Given the description of an element on the screen output the (x, y) to click on. 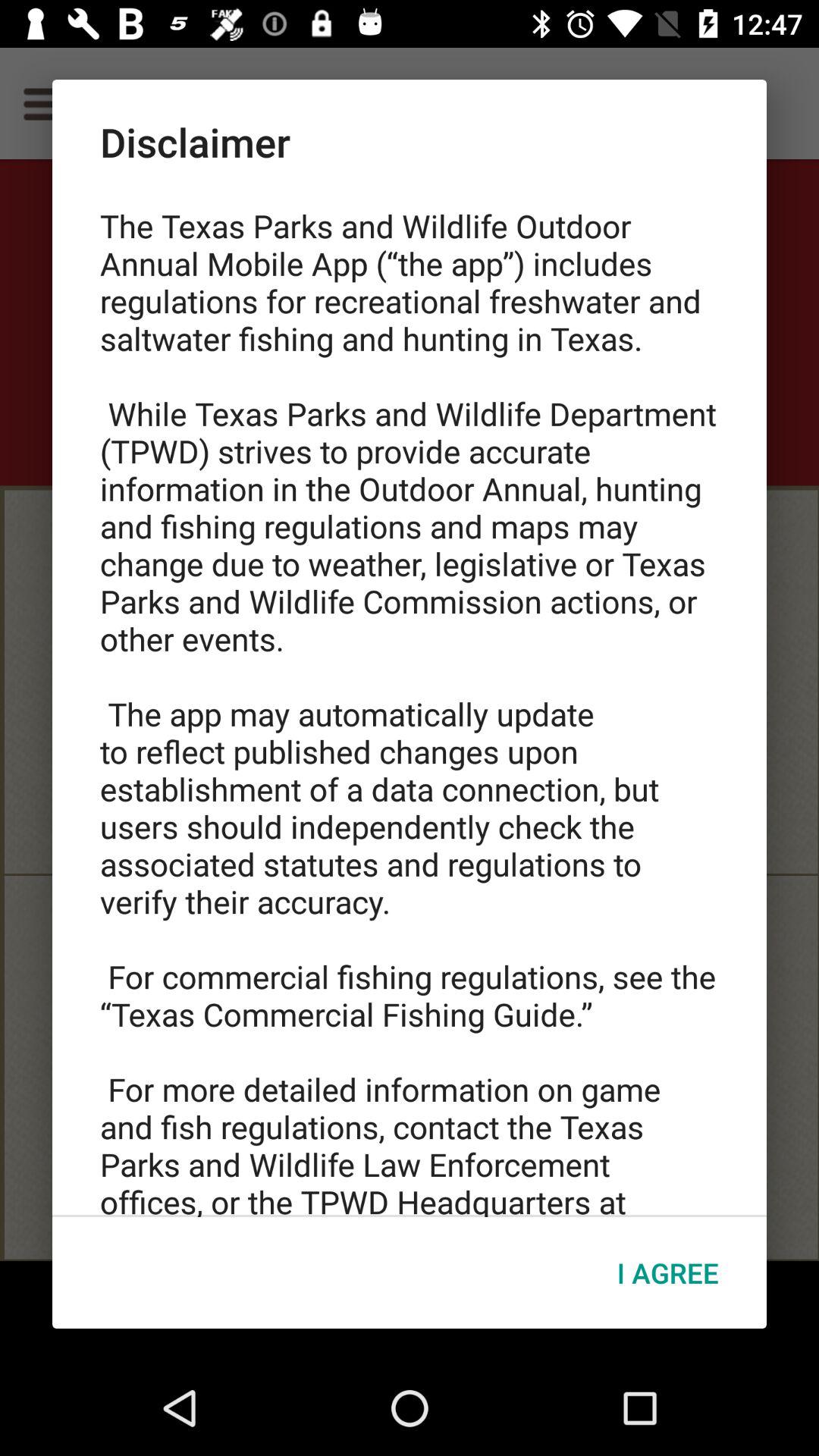
select i agree icon (667, 1272)
